Given the description of an element on the screen output the (x, y) to click on. 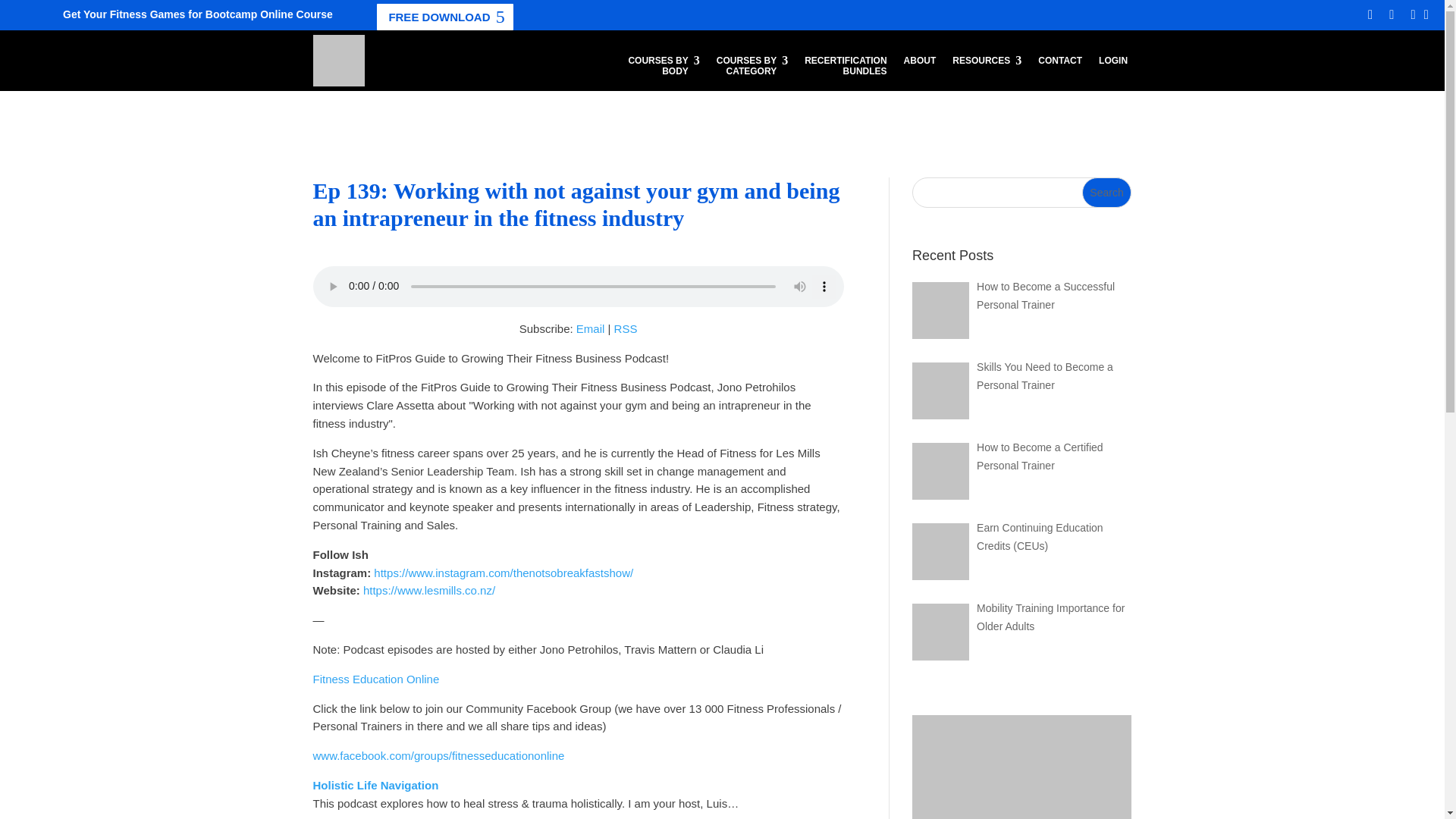
Skills You Need to Become a Personal Trainer (940, 390)
Mobility Training Importance for Older Adults (940, 631)
CONTACT (1059, 68)
How to Become a Certified Personal Trainer (662, 68)
RSS (940, 471)
feo-logo (625, 328)
How to Become a Successful Personal Trainer (338, 60)
Search (940, 310)
LOGIN (1106, 192)
FREE DOWNLOAD (1112, 68)
Subscribe via RSS (444, 16)
Subscribe by Email (625, 328)
